Given the description of an element on the screen output the (x, y) to click on. 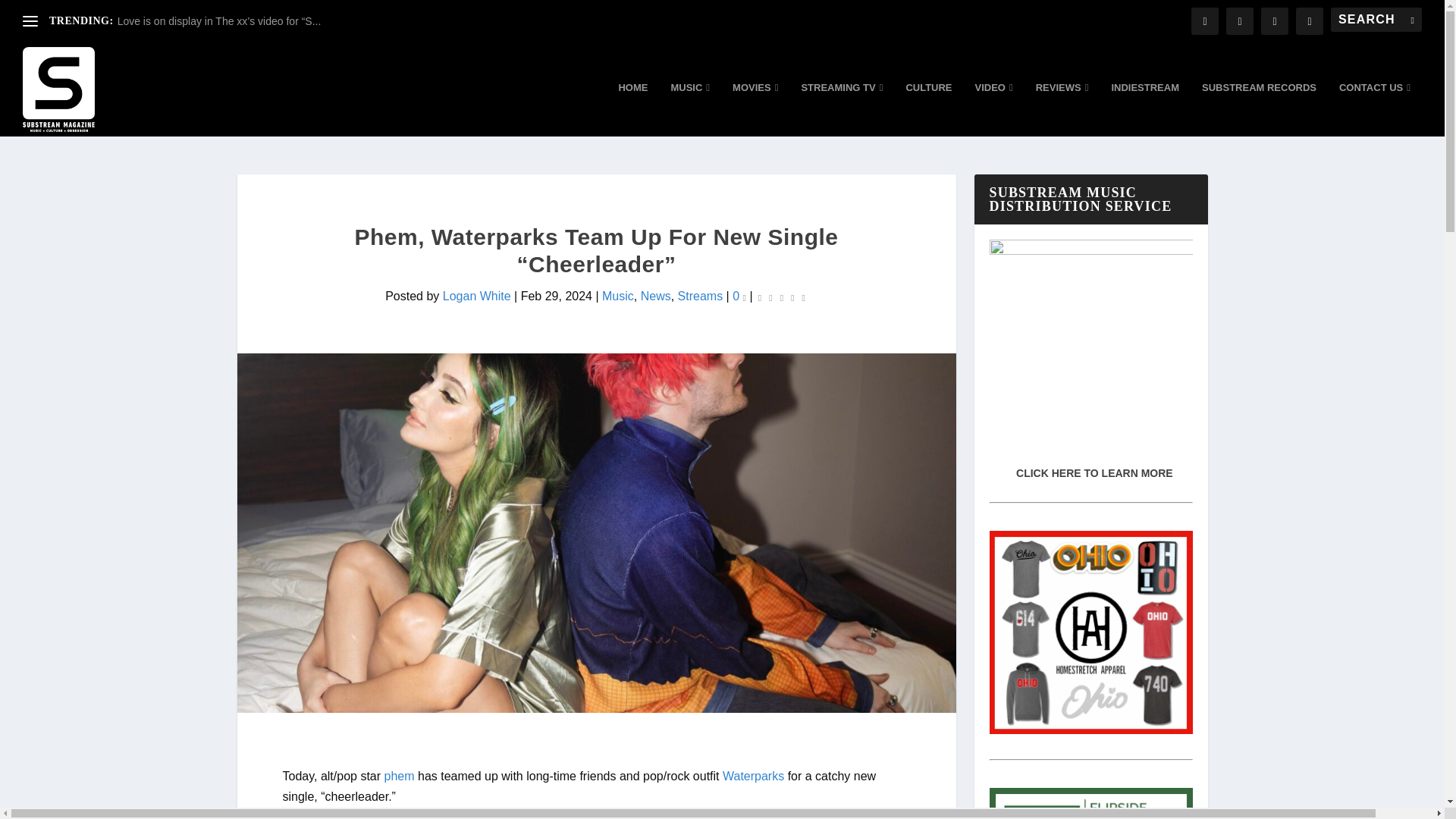
STREAMING TV (841, 108)
Rating: 0.00 (781, 296)
Posts by Logan White (476, 295)
REVIEWS (1062, 108)
Search for: (1376, 19)
